Given the description of an element on the screen output the (x, y) to click on. 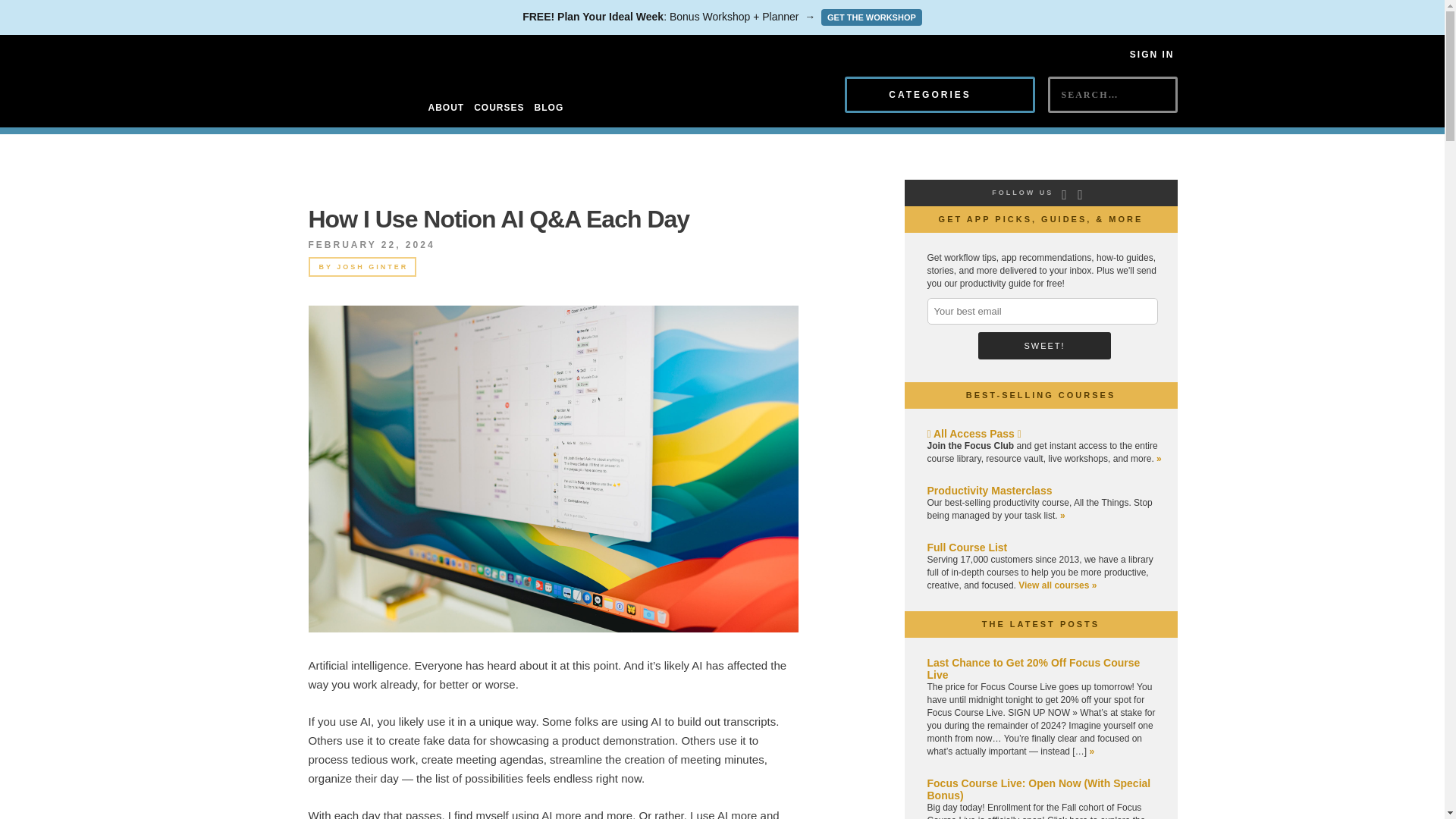
Sweet! (1044, 345)
SIGN IN (1151, 53)
Sweet! (1044, 345)
JOSH GINTER (371, 266)
Productivity Masterclass (988, 490)
BEST-SELLING COURSES (1041, 394)
ABOUT (446, 107)
GET THE WORKSHOP (871, 17)
BLOG (549, 107)
Go (1061, 120)
